Given the description of an element on the screen output the (x, y) to click on. 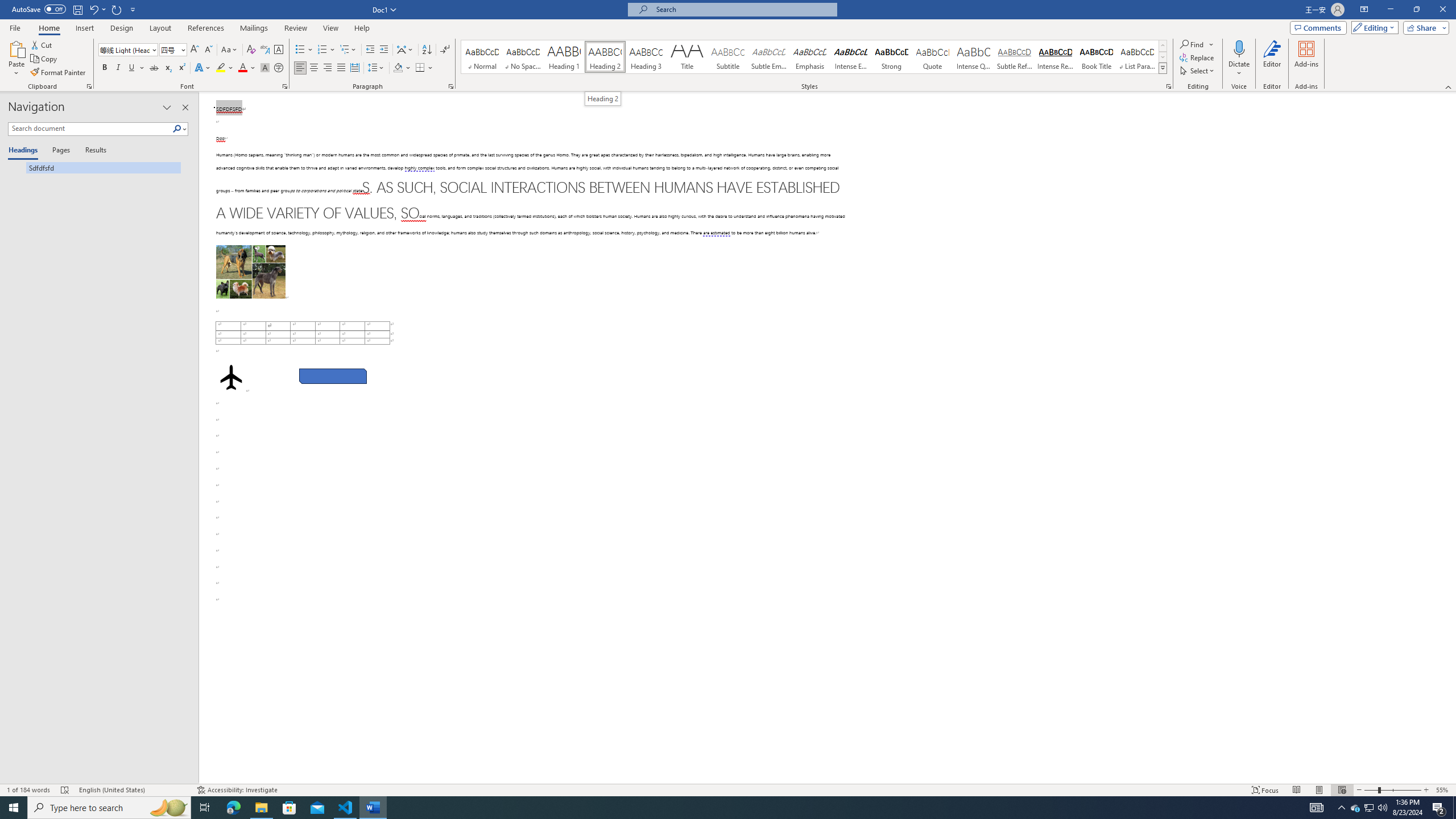
Strong (891, 56)
Subtitle (727, 56)
Shrink Font (208, 49)
Show/Hide Editing Marks (444, 49)
Styles (1162, 67)
Accessibility Checker Accessibility: Investigate (237, 790)
Asian Layout (405, 49)
AutomationID: QuickStylesGallery (814, 56)
Heading 3 (646, 56)
Change Case (229, 49)
Rectangle: Diagonal Corners Snipped 2 (332, 376)
